Given the description of an element on the screen output the (x, y) to click on. 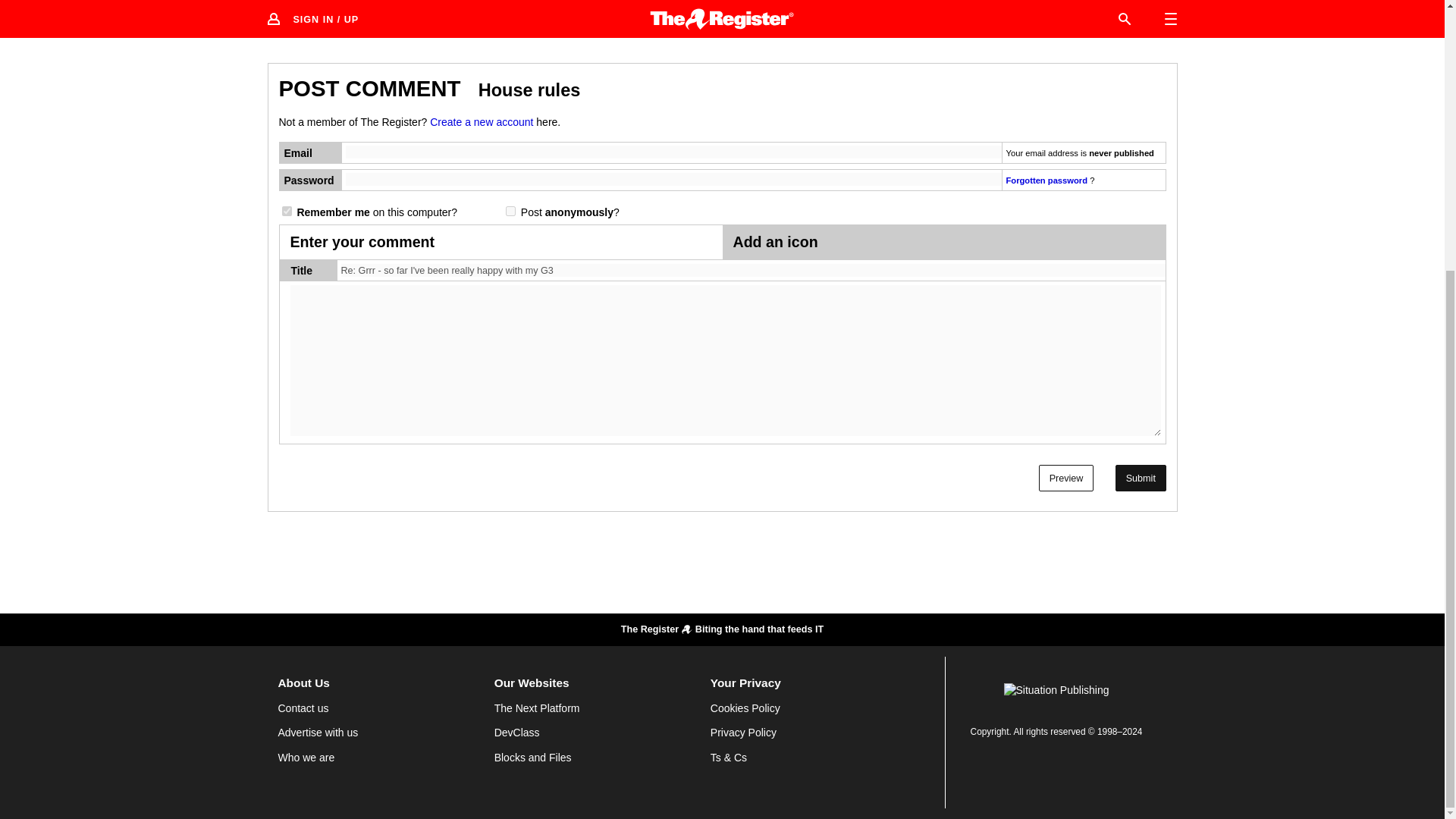
1 (510, 211)
1 (287, 211)
Preview (1066, 478)
Re: Grrr - so far I've been really happy with my G3 (753, 270)
Submit (1140, 478)
